Given the description of an element on the screen output the (x, y) to click on. 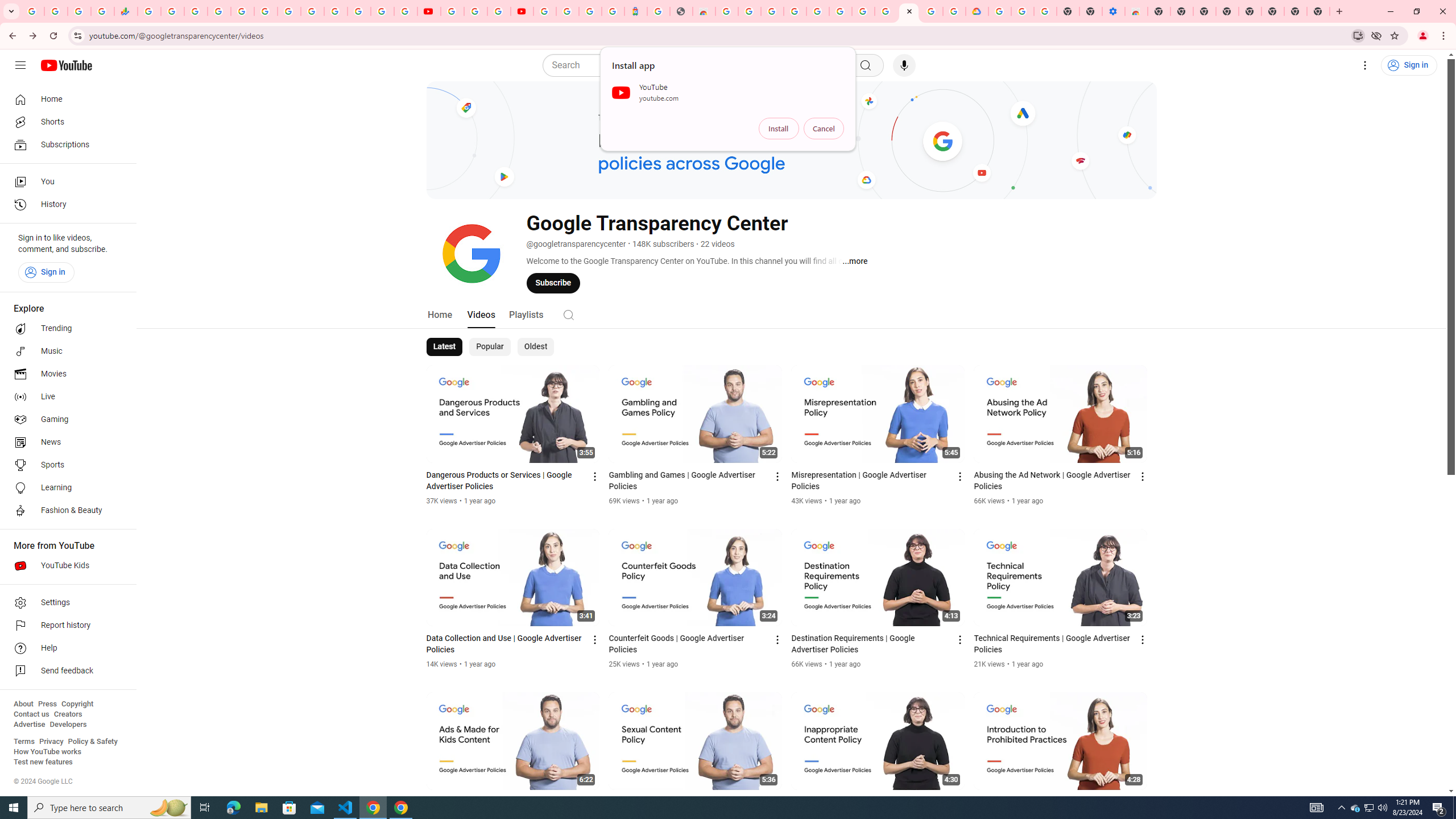
Google Transparency Center - YouTube (909, 11)
New Tab (1158, 11)
Install (778, 128)
Browse the Google Chrome Community - Google Chrome Community (954, 11)
Videos (481, 314)
Privacy (51, 741)
Ad Settings (794, 11)
YouTube Kids (64, 565)
Subscribe (552, 282)
